Given the description of an element on the screen output the (x, y) to click on. 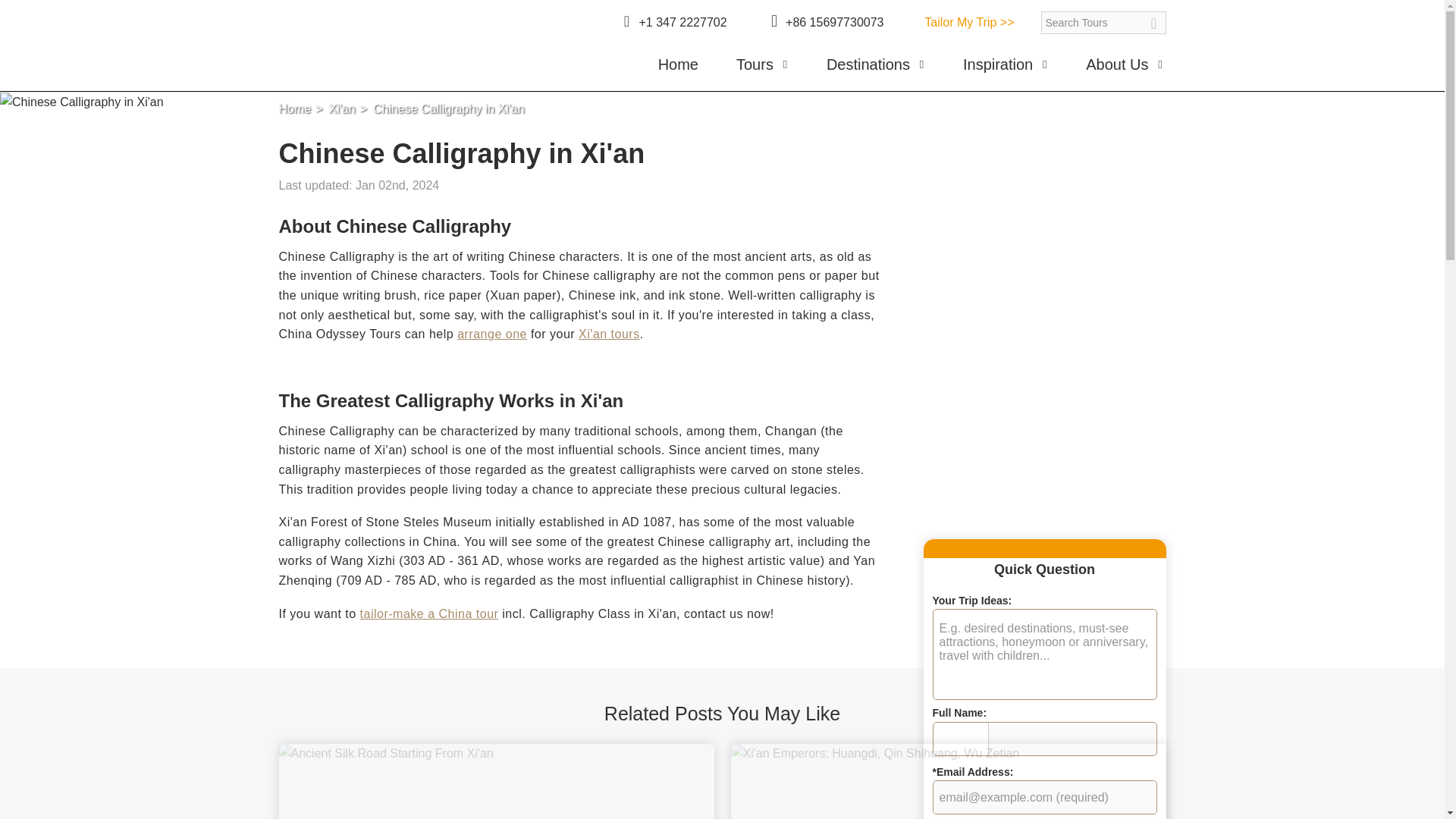
Tours (762, 70)
Home (678, 70)
Inspiration (1005, 70)
Destinations (875, 70)
